Given the description of an element on the screen output the (x, y) to click on. 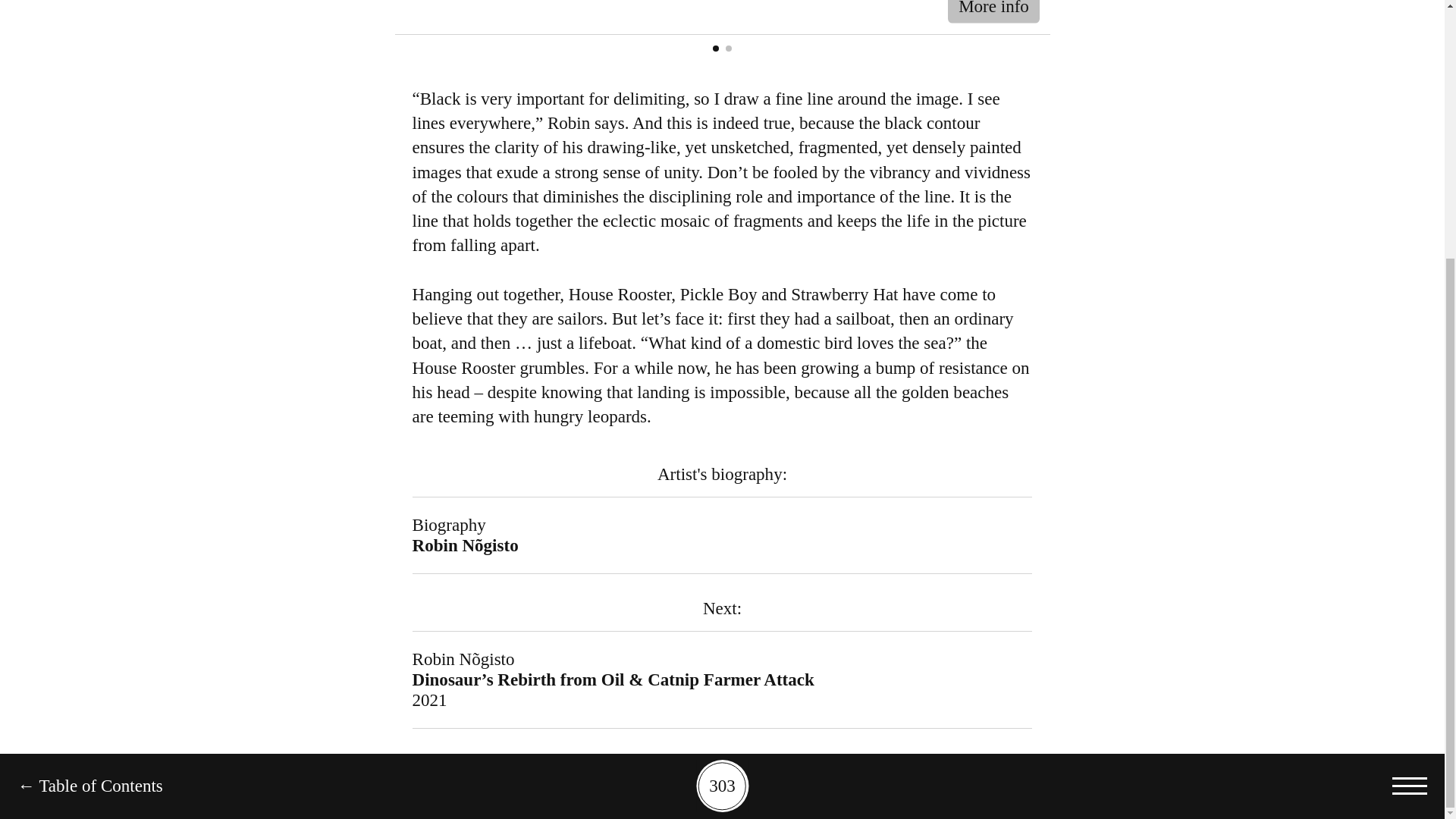
More info (993, 11)
303 (721, 416)
